Given the description of an element on the screen output the (x, y) to click on. 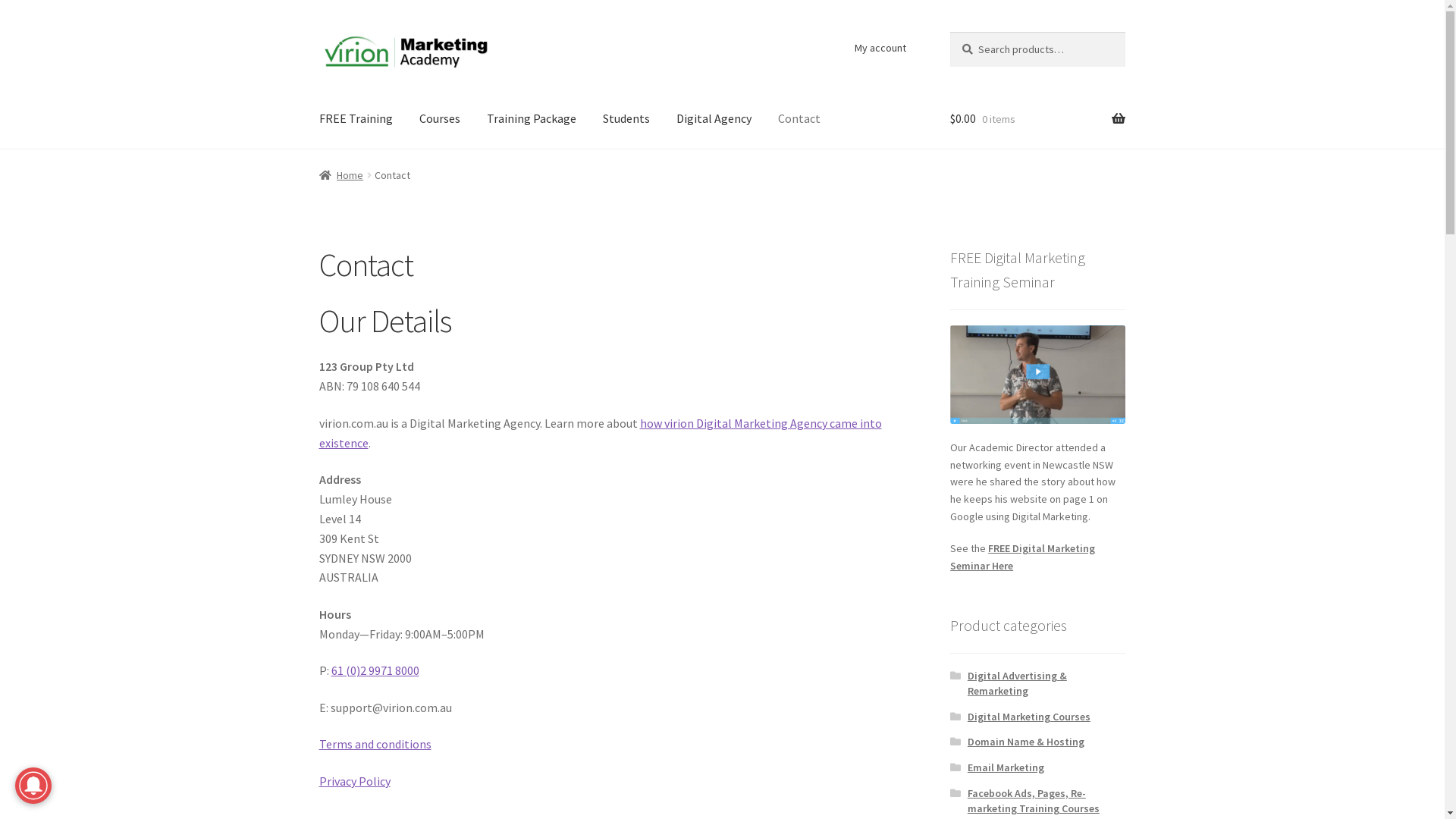
Digital Advertising & Remarketing Element type: text (1016, 682)
how virion Digital Marketing Agency came into existence Element type: text (600, 432)
Privacy Policy Element type: text (354, 780)
Terms and conditions Element type: text (375, 743)
Home Element type: text (341, 175)
Digital Marketing Courses Element type: text (1028, 716)
FREE Training Element type: text (355, 118)
$0.00 0 items Element type: text (1037, 118)
Courses Element type: text (439, 118)
Digital Agency Element type: text (713, 118)
61 (0)2 9971 8000 Element type: text (375, 669)
Search Element type: text (949, 31)
Skip to navigation Element type: text (318, 31)
Domain Name & Hosting Element type: text (1025, 741)
Email Marketing Element type: text (1005, 767)
Training Package Element type: text (531, 118)
Students Element type: text (626, 118)
My account Element type: text (879, 47)
FREE Digital Marketing Seminar Here Element type: text (1022, 556)
Contact Element type: text (798, 118)
Facebook Ads, Pages, Re-marketing Training Courses Element type: text (1033, 800)
